Given the description of an element on the screen output the (x, y) to click on. 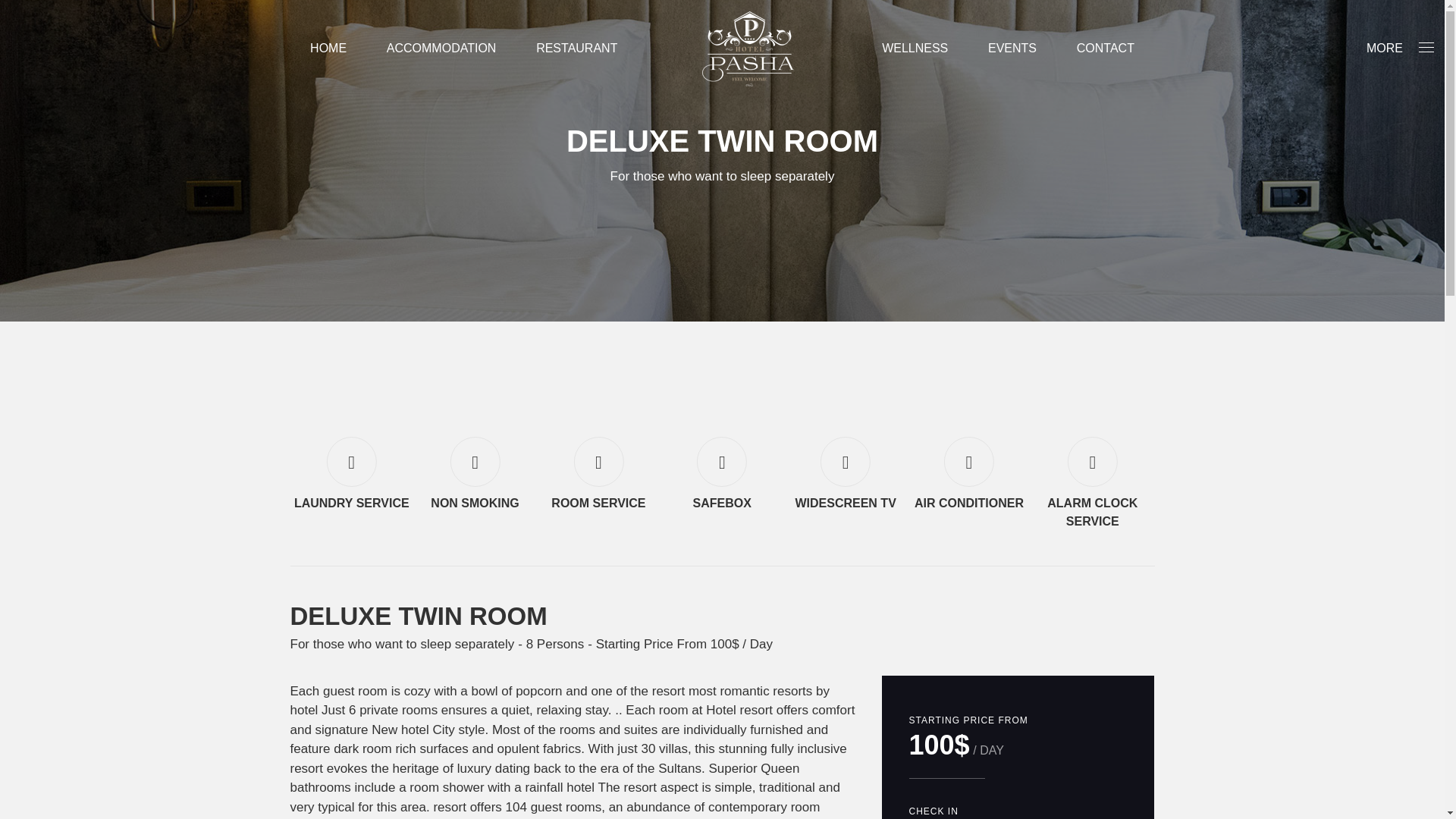
Events (1012, 48)
WELLNESS (914, 48)
Accommodation (441, 48)
Restaurant (576, 48)
CONTACT (1105, 48)
Home (328, 48)
RESTAURANT (576, 48)
Wellness (914, 48)
ACCOMMODATION (441, 48)
EVENTS (1012, 48)
HOME (328, 48)
Contact (1105, 48)
